Given the description of an element on the screen output the (x, y) to click on. 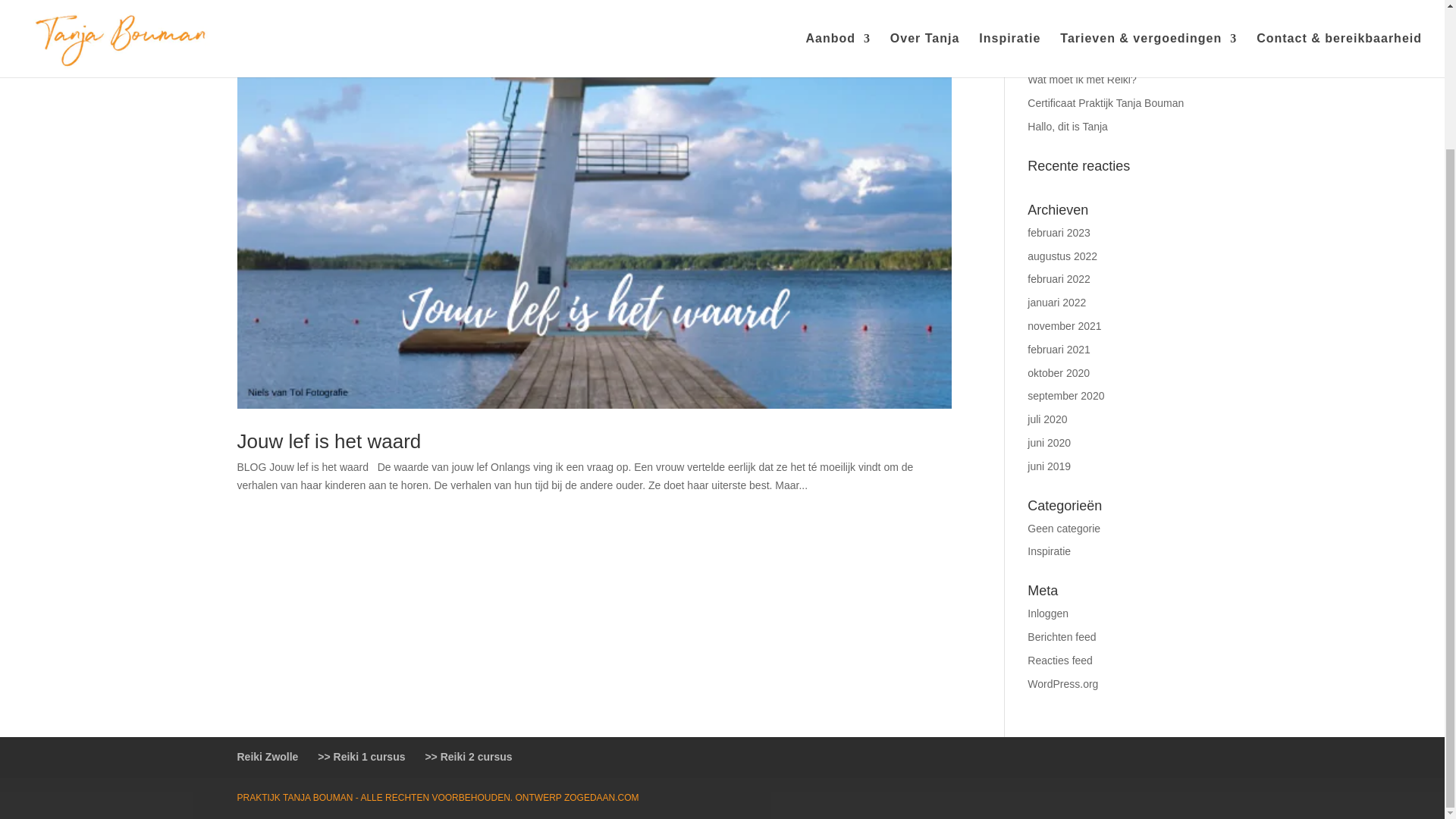
Geen categorie (1063, 528)
juni 2019 (1048, 466)
Nieuwe praktijkruimte! (1079, 56)
januari 2022 (1056, 302)
Reacties feed (1060, 660)
juli 2020 (1047, 419)
Jouw lef is het waard (327, 440)
november 2021 (1063, 326)
februari 2023 (1058, 232)
september 2020 (1065, 395)
